Given the description of an element on the screen output the (x, y) to click on. 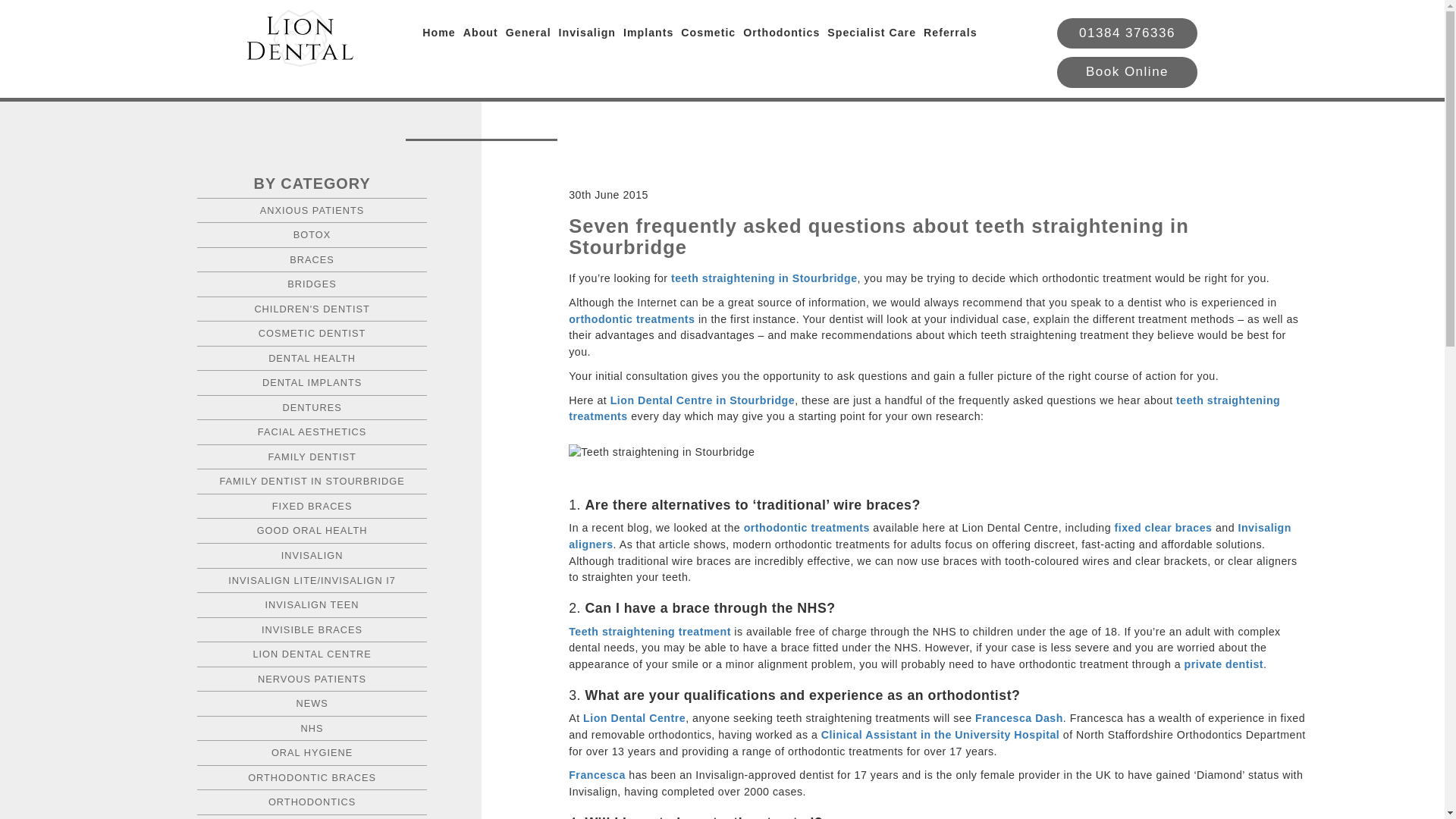
About (480, 33)
Specialist Care (871, 33)
Referrals (949, 33)
Cosmetic (708, 33)
Implants (647, 33)
Orthodontics (780, 33)
Invisalign (587, 33)
Home (438, 33)
General (528, 33)
